Given the description of an element on the screen output the (x, y) to click on. 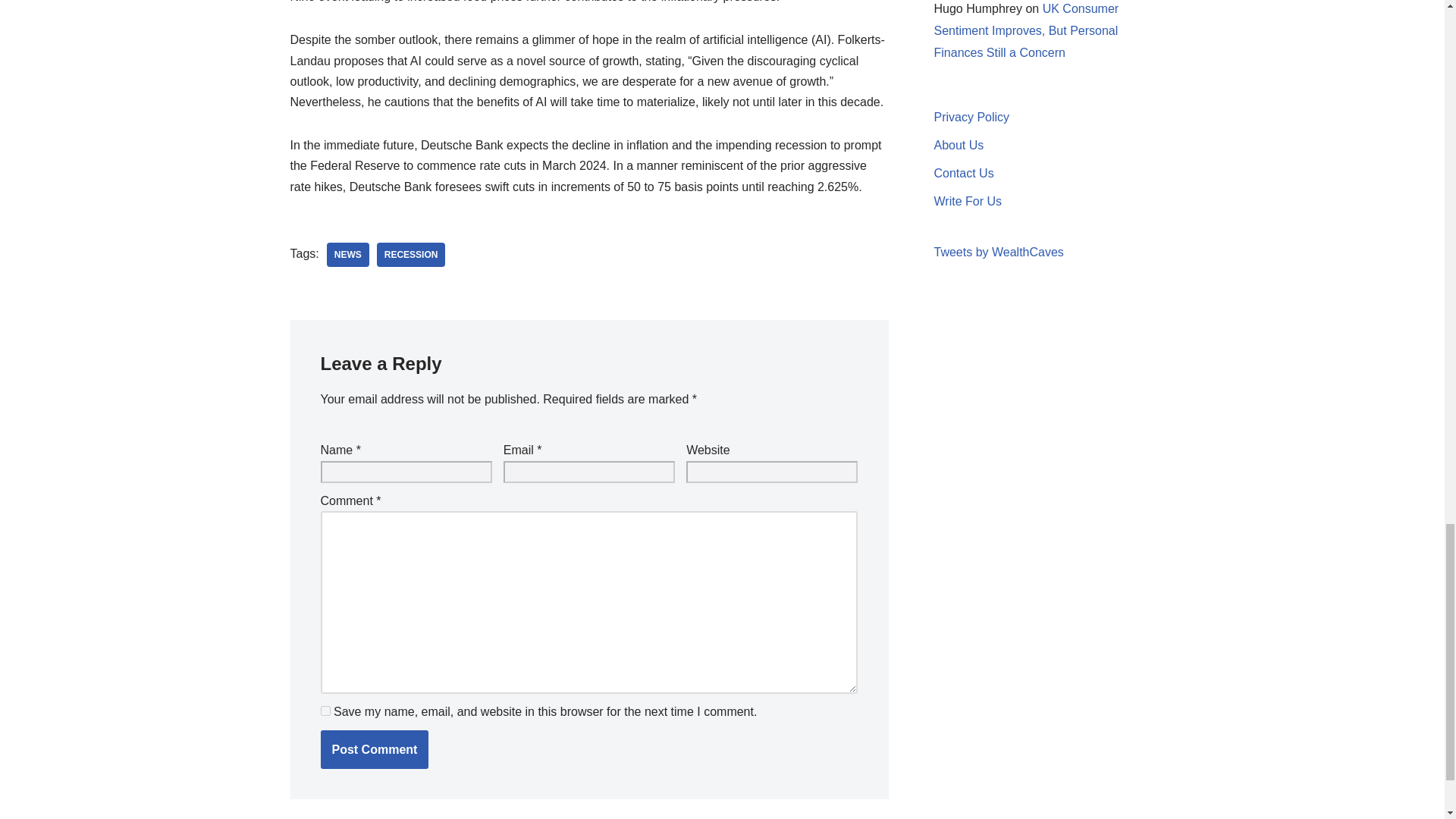
NEWS (347, 254)
Recession (411, 254)
Post Comment (374, 749)
yes (325, 710)
News (347, 254)
Post Comment (374, 749)
RECESSION (411, 254)
